Given the description of an element on the screen output the (x, y) to click on. 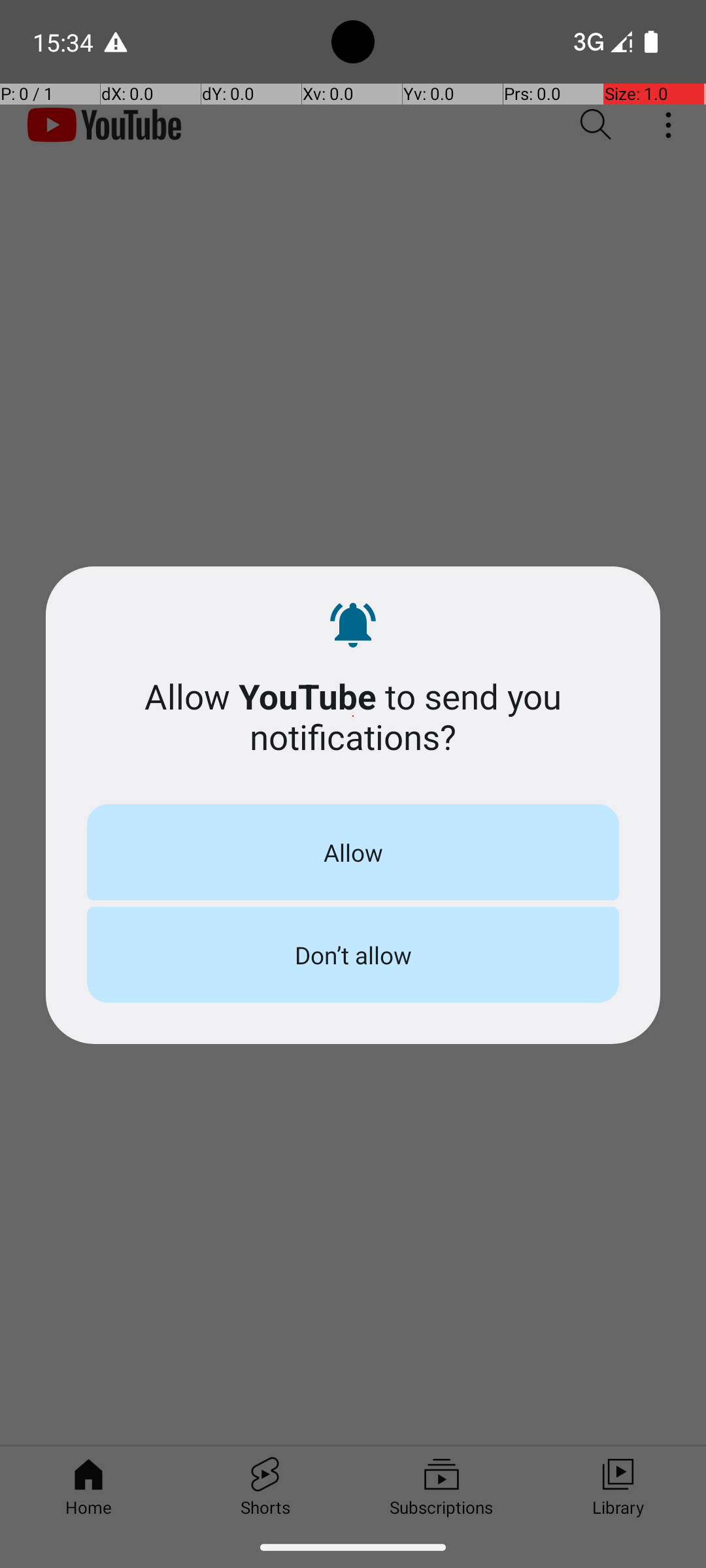
Allow YouTube to send you notifications? Element type: android.widget.TextView (352, 715)
Allow Element type: android.widget.Button (352, 852)
Don’t allow Element type: android.widget.Button (352, 954)
